Given the description of an element on the screen output the (x, y) to click on. 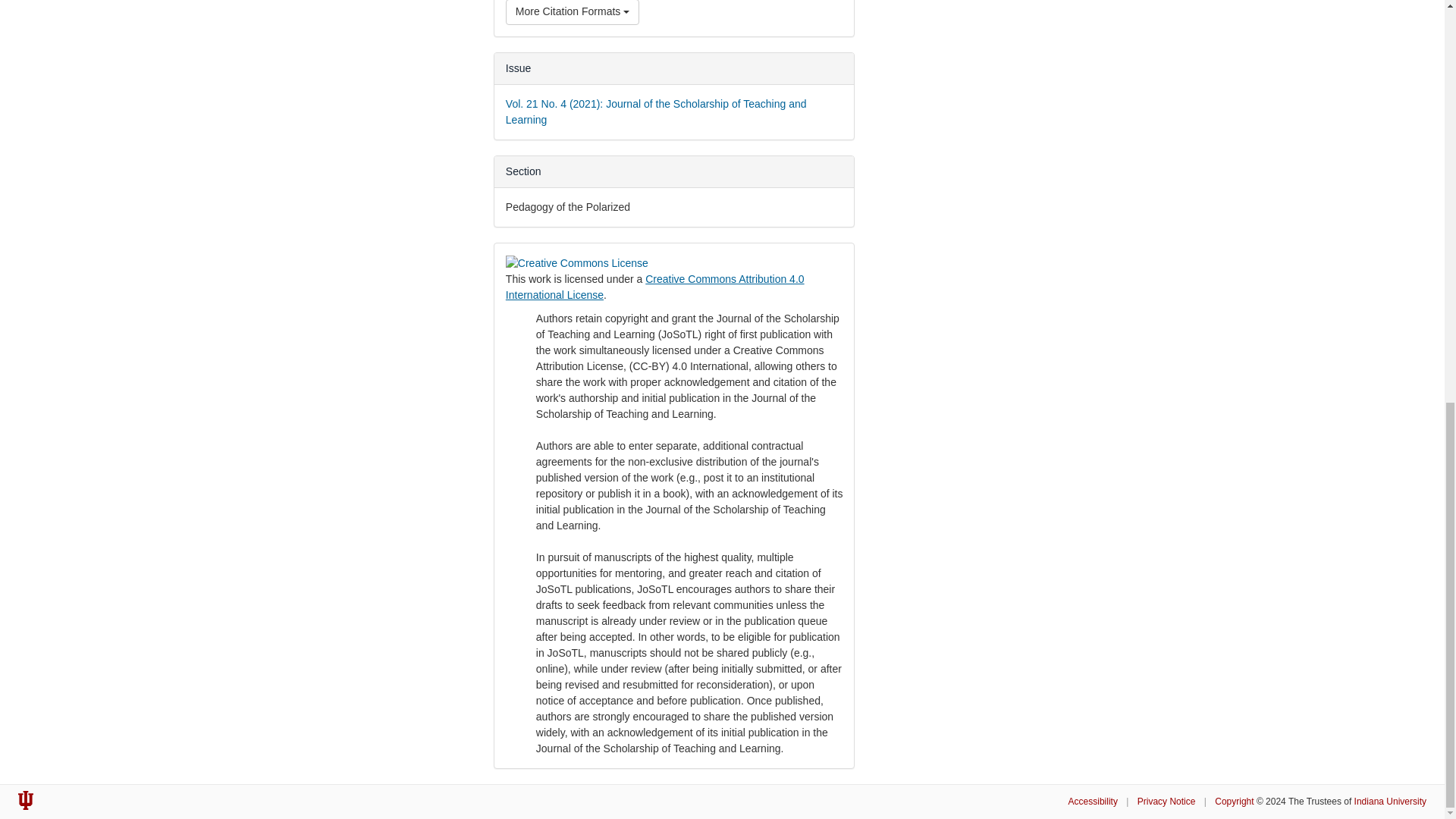
Creative Commons Attribution 4.0 International License (655, 286)
More Citation Formats (572, 12)
Accessibility (1093, 801)
